Given the description of an element on the screen output the (x, y) to click on. 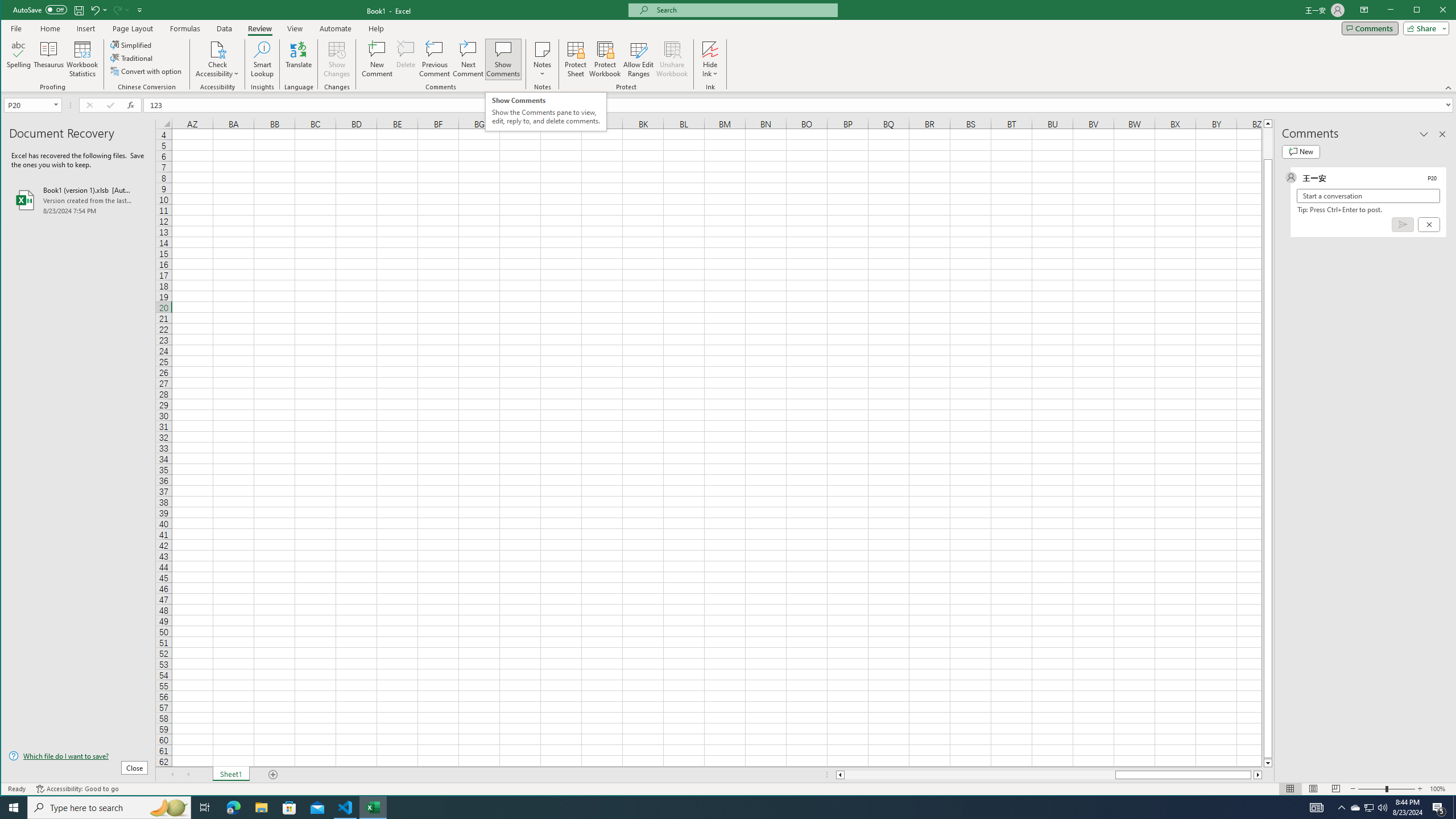
Unshare Workbook (671, 59)
Convert with option (146, 70)
Allow Edit Ranges (638, 59)
